Given the description of an element on the screen output the (x, y) to click on. 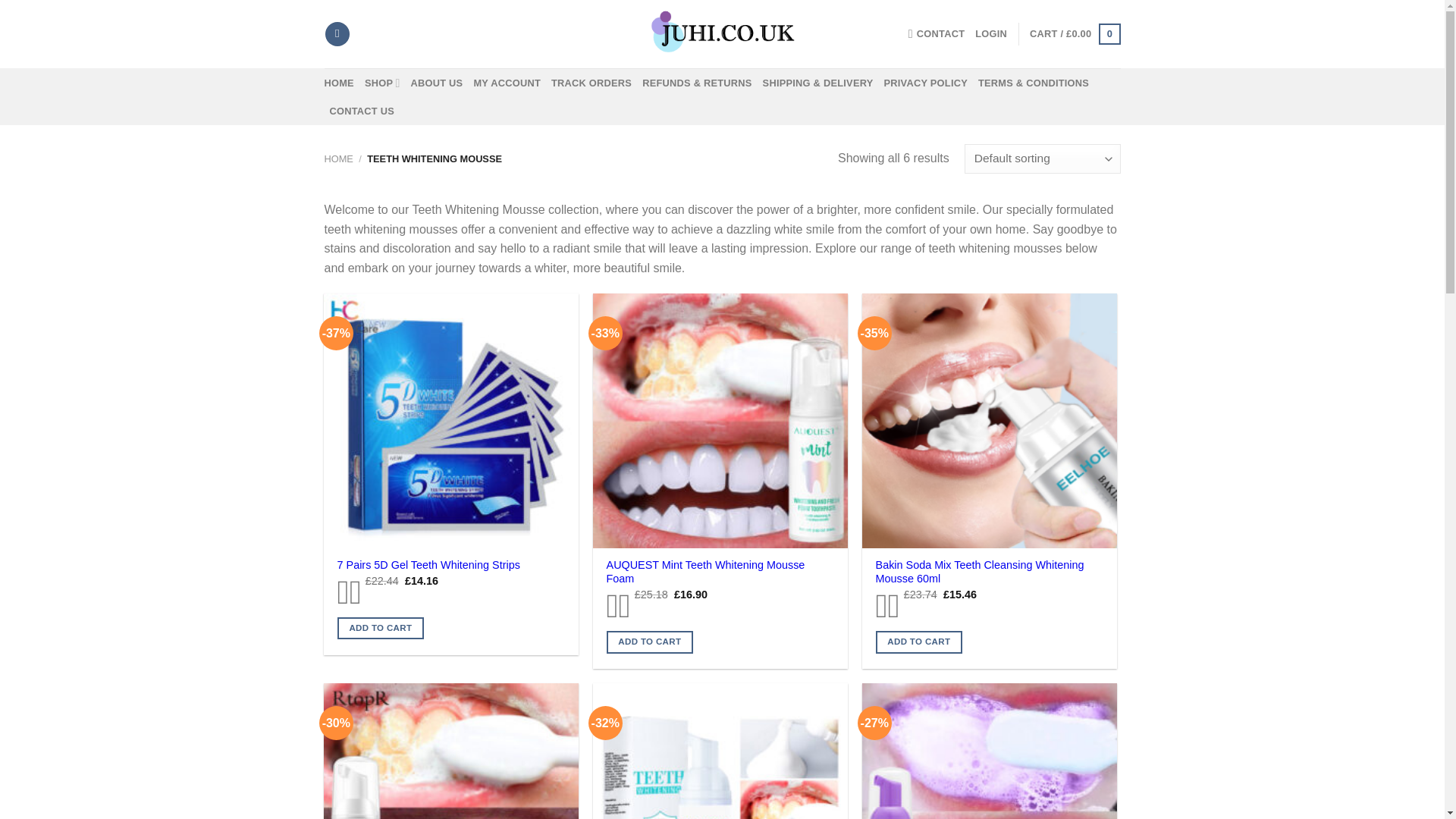
CONTACT (936, 33)
SHOP (382, 82)
LOGIN (991, 33)
Cart (1074, 34)
HOME (338, 83)
Juhi - A store full of offers (721, 33)
